Given the description of an element on the screen output the (x, y) to click on. 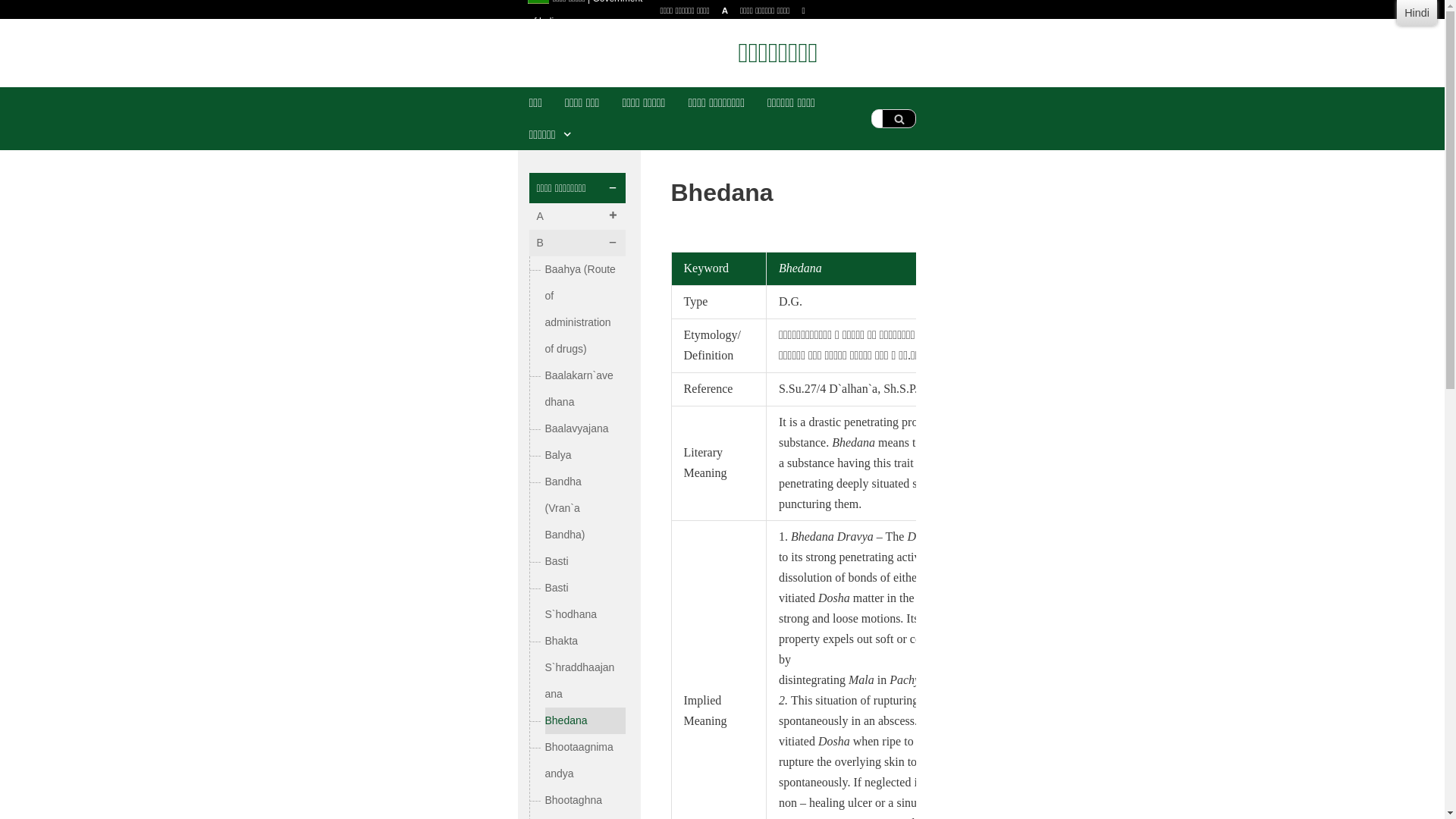
Reset Font (724, 9)
Skip to main content (713, 29)
A (724, 9)
